Given the description of an element on the screen output the (x, y) to click on. 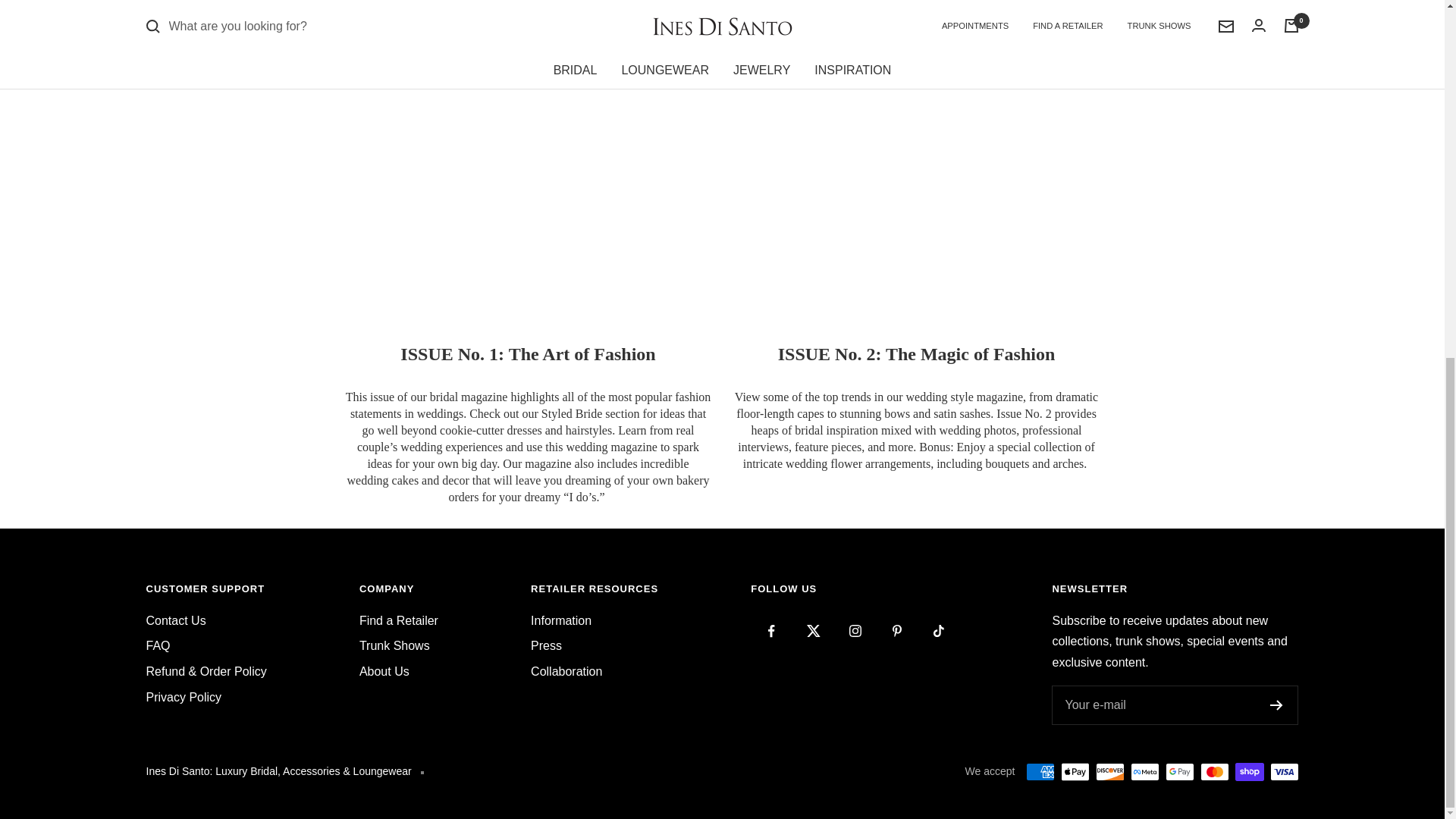
Collaboration (566, 671)
Trunk Shows (394, 645)
Register (1275, 705)
Find a Retailer (398, 620)
FAQ (157, 645)
Privacy Policy (183, 697)
Information (561, 620)
Contact Us (175, 620)
Press (546, 645)
About Us (384, 671)
